Given the description of an element on the screen output the (x, y) to click on. 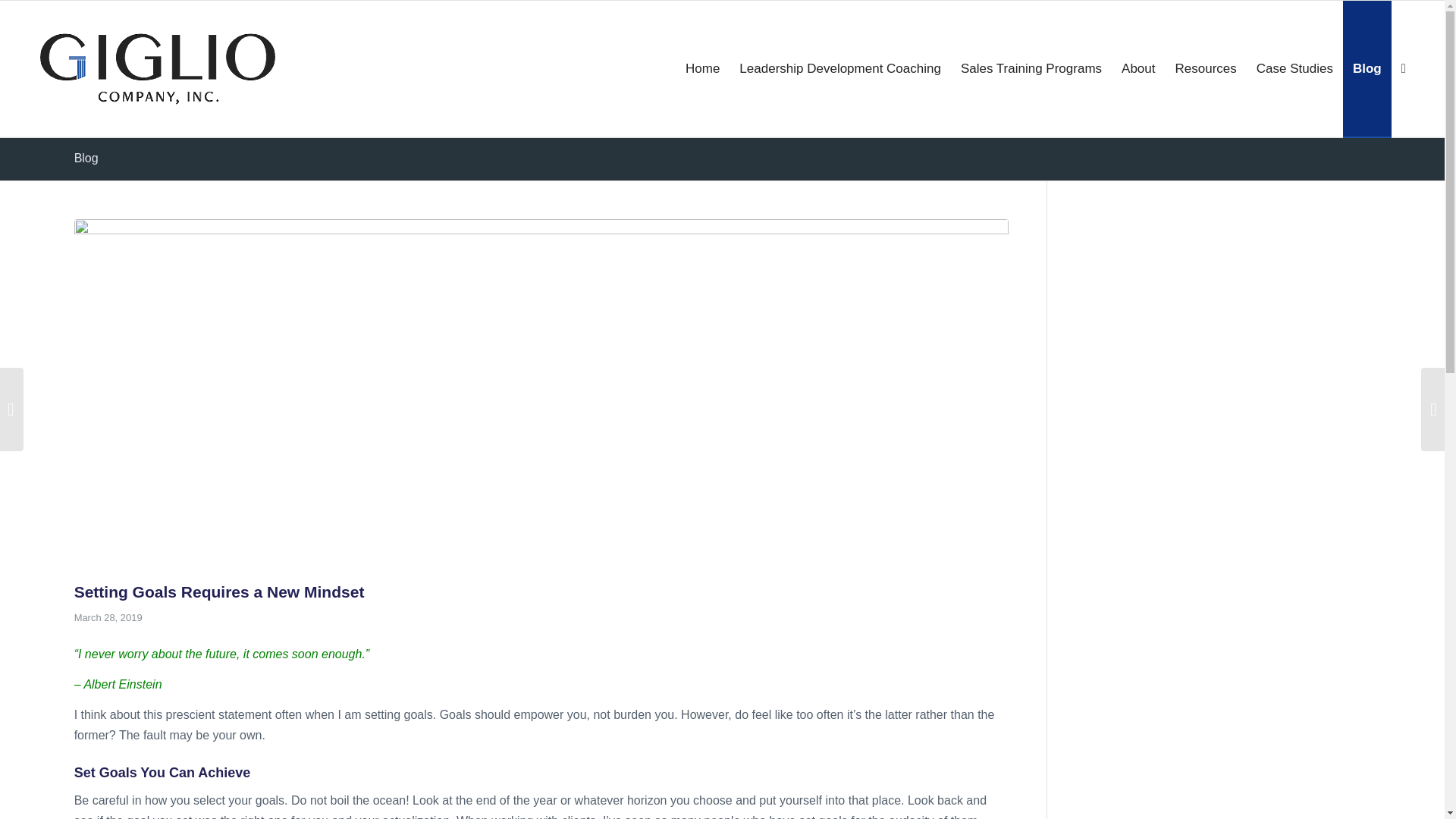
Leadership Development Coaching (839, 68)
Permanent Link: Blog (86, 157)
giglio-co-logolg (157, 68)
Sales Training Programs (1031, 68)
Blog (86, 157)
